Given the description of an element on the screen output the (x, y) to click on. 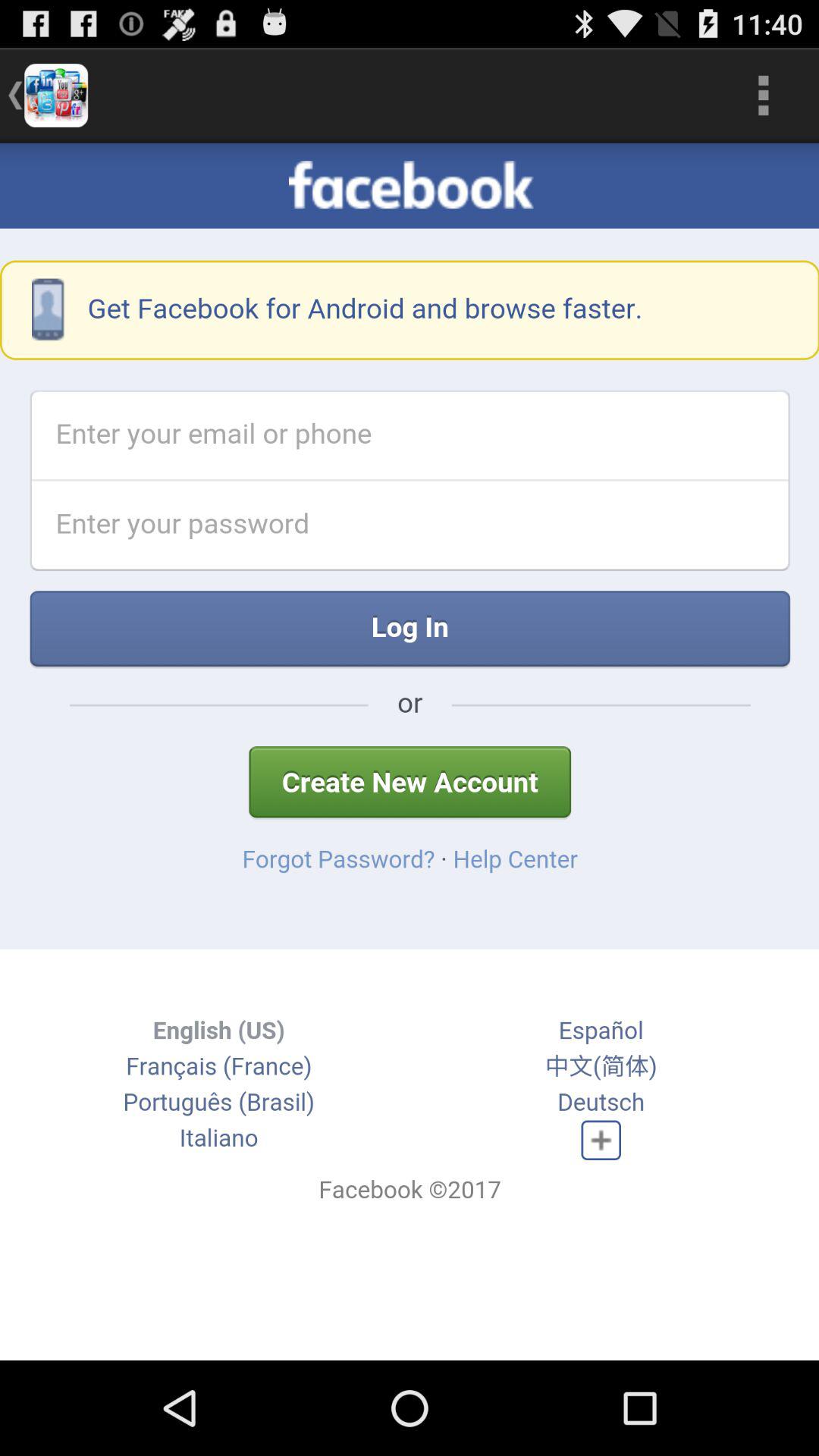
go to facebook option (409, 751)
